Given the description of an element on the screen output the (x, y) to click on. 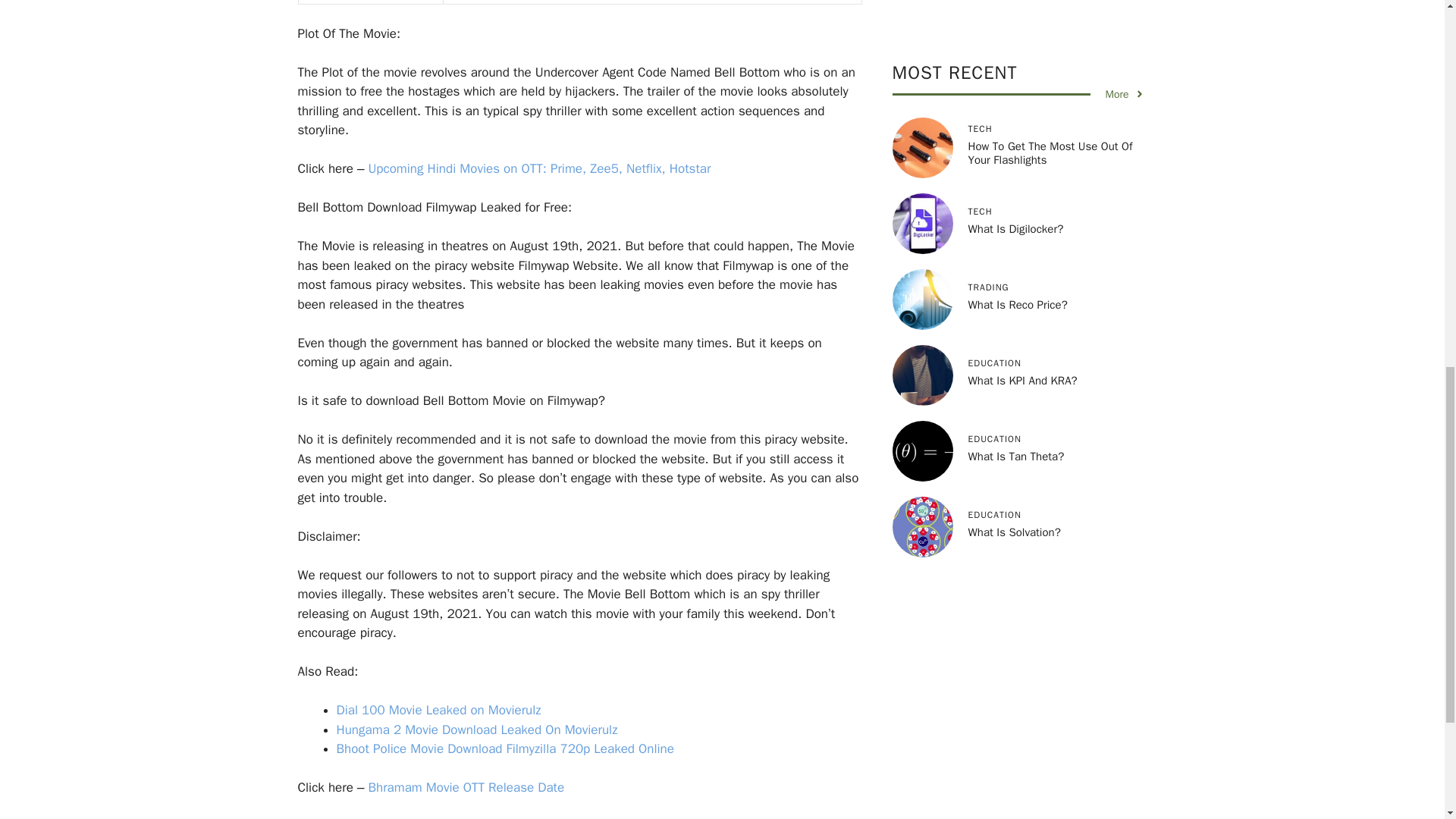
Upcoming Hindi Movies on OTT: Prime, Zee5, Netflix, Hotstar (539, 168)
Bhoot Police Movie Download Filmyzilla 720p Leaked Online  (507, 748)
Bhramam Movie OTT Release Date (466, 787)
Hungama 2 Movie Download Leaked On Movierulz (476, 729)
Dial 100 Movie Leaked on Movierulz (438, 709)
